Given the description of an element on the screen output the (x, y) to click on. 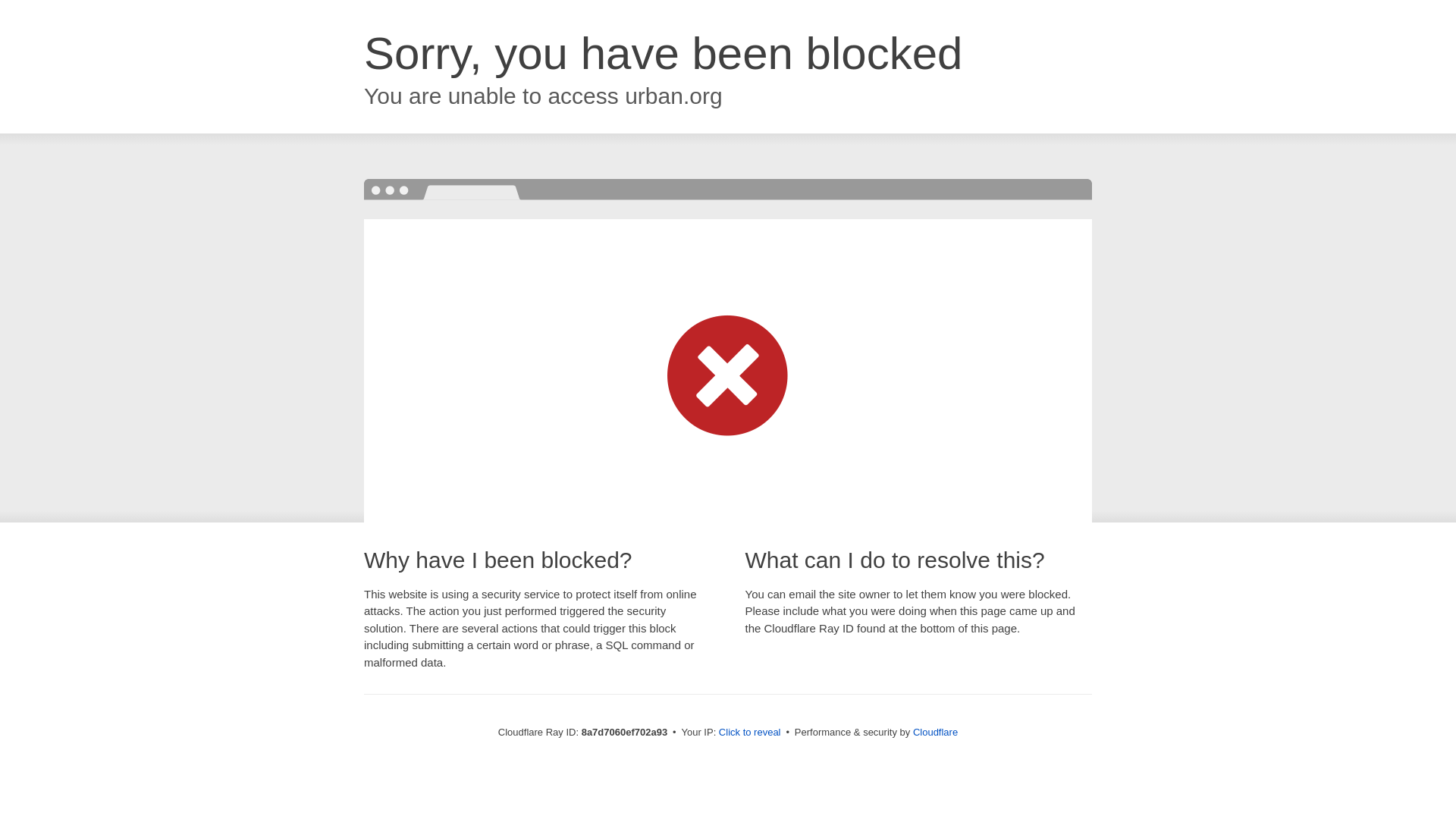
Click to reveal (749, 732)
Cloudflare (935, 731)
